Given the description of an element on the screen output the (x, y) to click on. 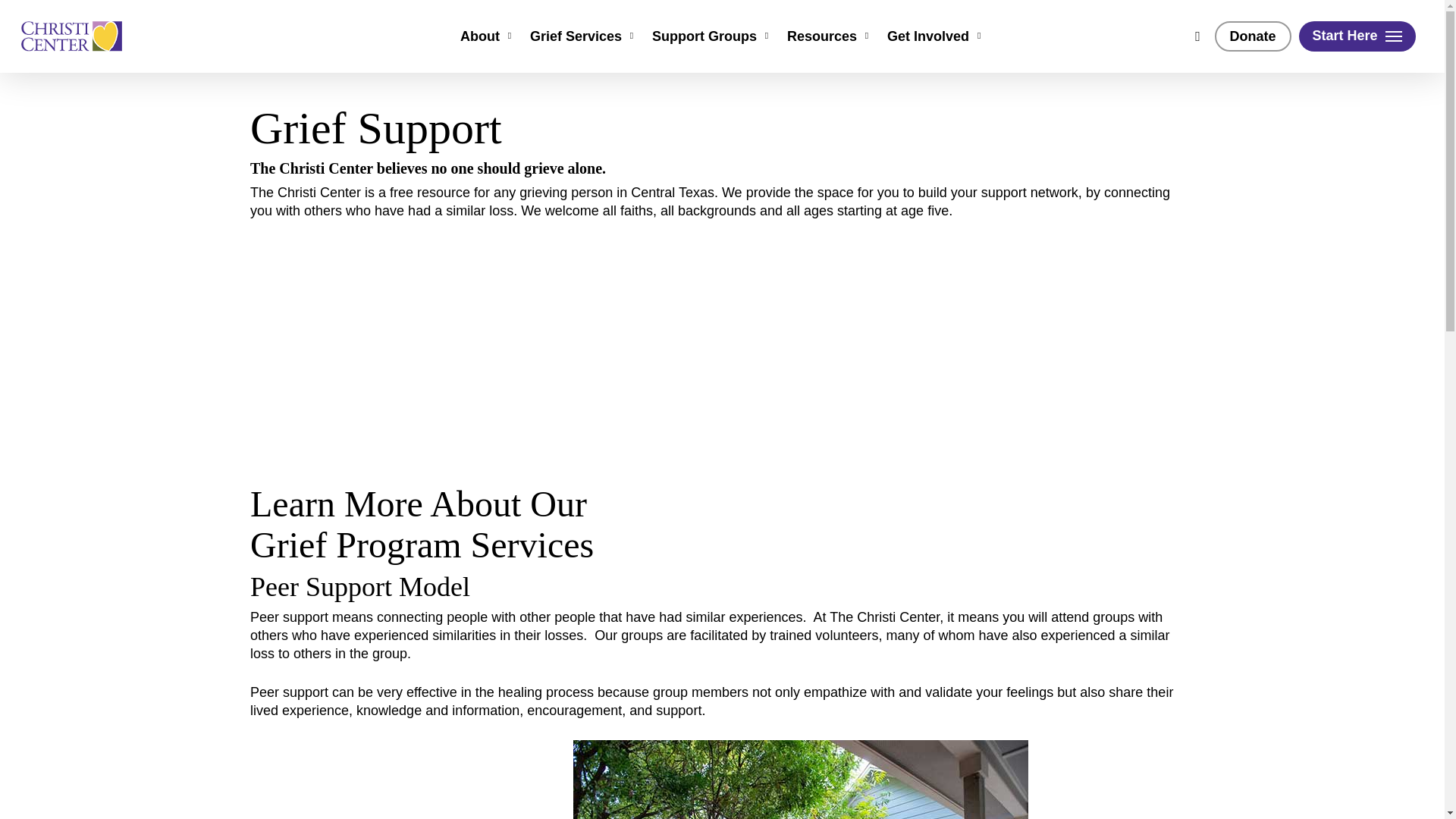
about-back-garden (800, 779)
Get Involved (935, 36)
Support Groups (711, 36)
Resources (829, 36)
About (487, 36)
search (1198, 36)
Donate (1252, 36)
Grief Services (583, 36)
